Given the description of an element on the screen output the (x, y) to click on. 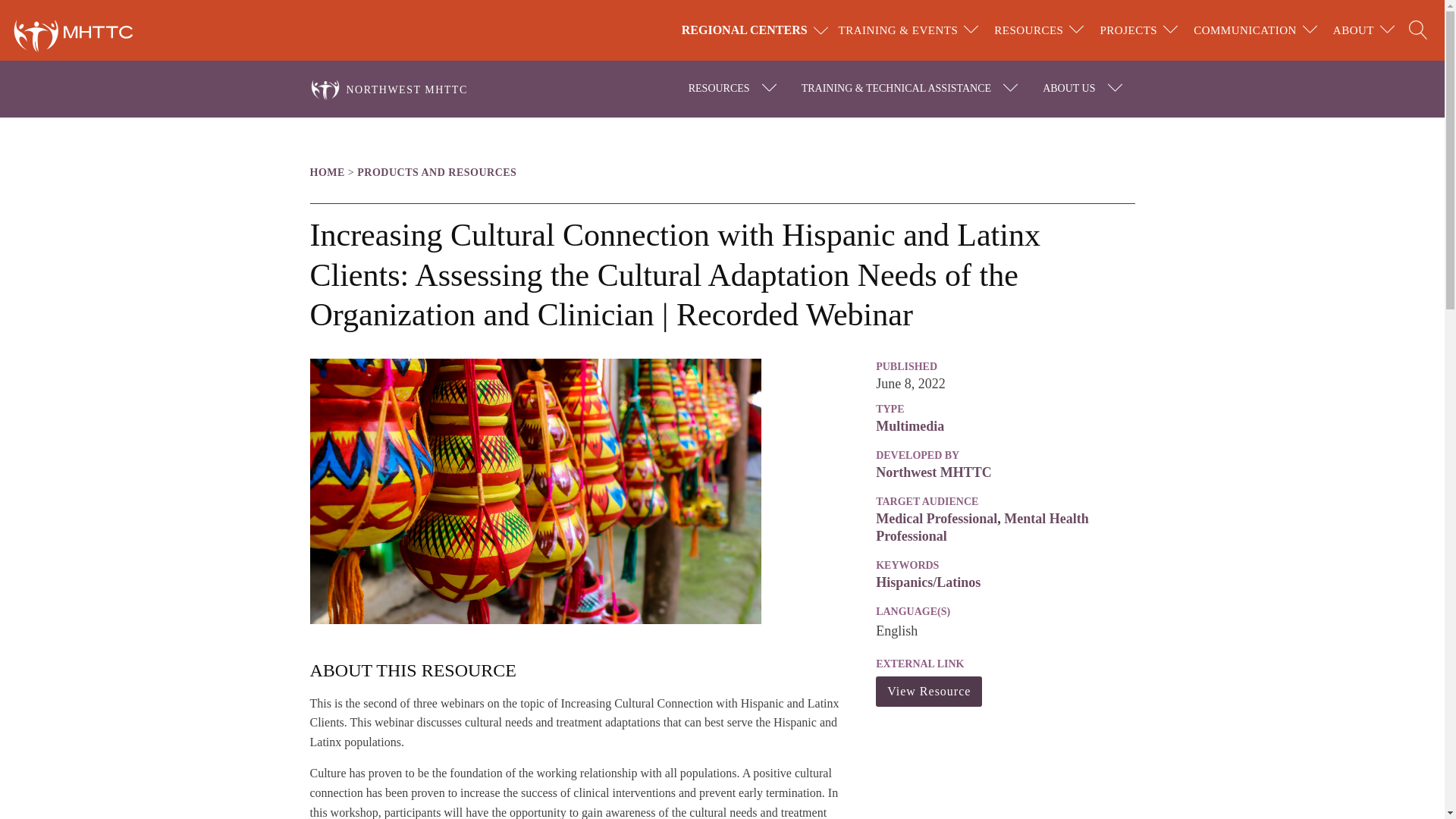
PROJECTS (1128, 30)
RESOURCES (1028, 30)
REGIONAL CENTERS (756, 30)
